Given the description of an element on the screen output the (x, y) to click on. 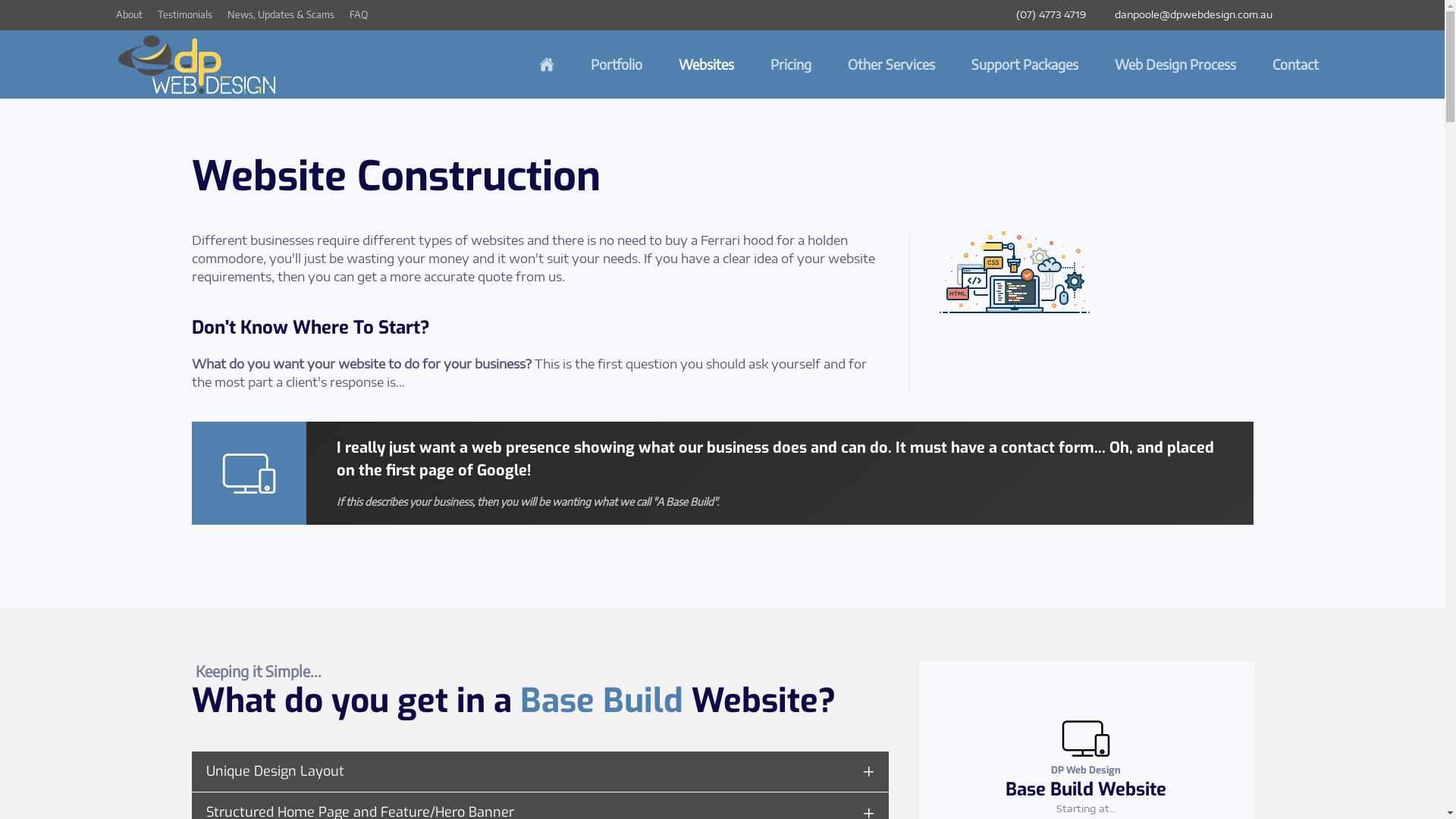
danpoole@dpwebdesign.com.au Element type: text (1188, 14)
Web Design Process Element type: text (1175, 64)
Unique Design Layout Element type: text (539, 771)
News, Updates & Scams Element type: text (280, 14)
Testimonials Element type: text (184, 14)
Pricing Element type: text (790, 64)
Websites Element type: text (705, 64)
FAQ Element type: text (357, 14)
About Element type: text (128, 14)
Portfolio Element type: text (615, 64)
(07) 4773 4719 Element type: text (1045, 14)
Other Services Element type: text (891, 64)
Support Packages Element type: text (1024, 64)
Contact Element type: text (1295, 64)
